Given the description of an element on the screen output the (x, y) to click on. 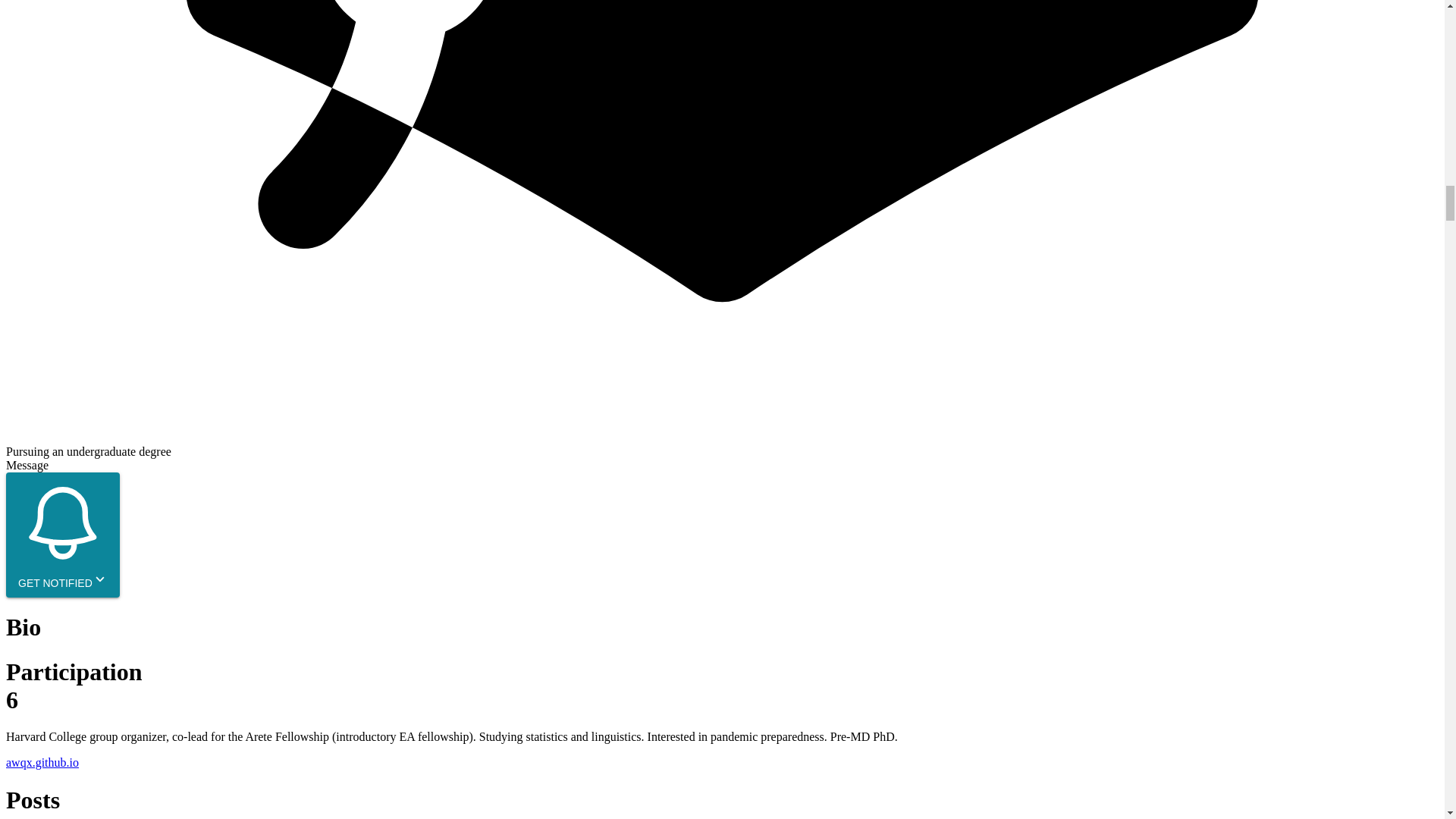
Message (26, 464)
awqx.github.io (41, 762)
GET NOTIFIED (62, 534)
